Given the description of an element on the screen output the (x, y) to click on. 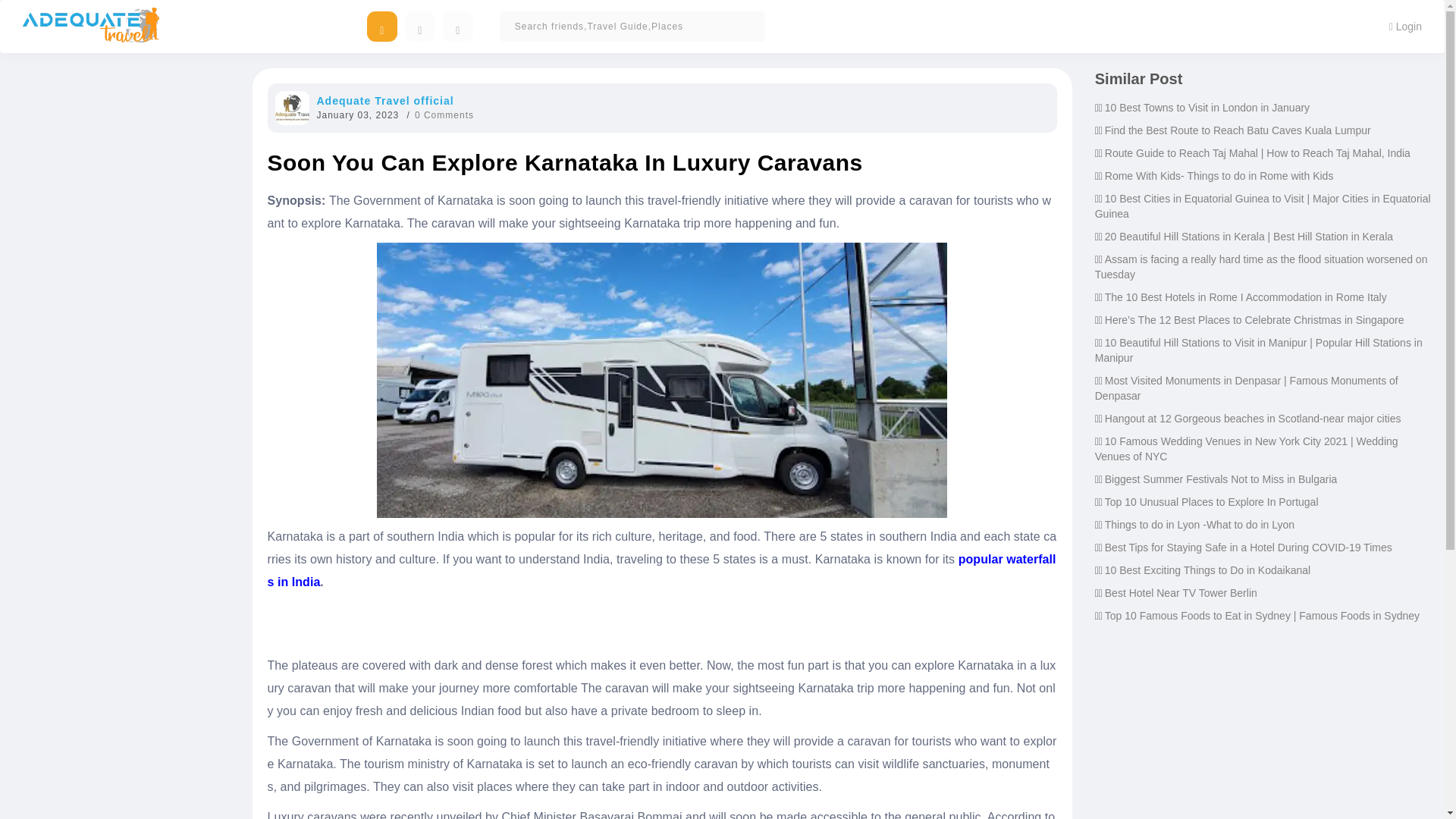
popular waterfalls in India (660, 570)
0 Comments (444, 114)
Login (1404, 26)
Best Hotel Near TV Tower Berlin (1181, 592)
The 10 Best Hotels in Rome I Accommodation in Rome Italy (1246, 297)
Adequate Travel official (385, 101)
Hangout at 12 Gorgeous beaches in Scotland-near major cities (1252, 418)
Top 10 Unusual Places to Explore In Portugal (1212, 501)
Find the Best Route to Reach Batu Caves Kuala Lumpur (1238, 130)
Rome With Kids- Things to do in Rome with Kids (1219, 175)
Best Tips for Staying Safe in a Hotel During COVID-19 Times (1248, 547)
10 Best Exciting Things to Do in Kodaikanal (1207, 570)
10 Best Towns to Visit in London in January (1206, 107)
Things to do in Lyon -What to do in Lyon (1199, 524)
